Given the description of an element on the screen output the (x, y) to click on. 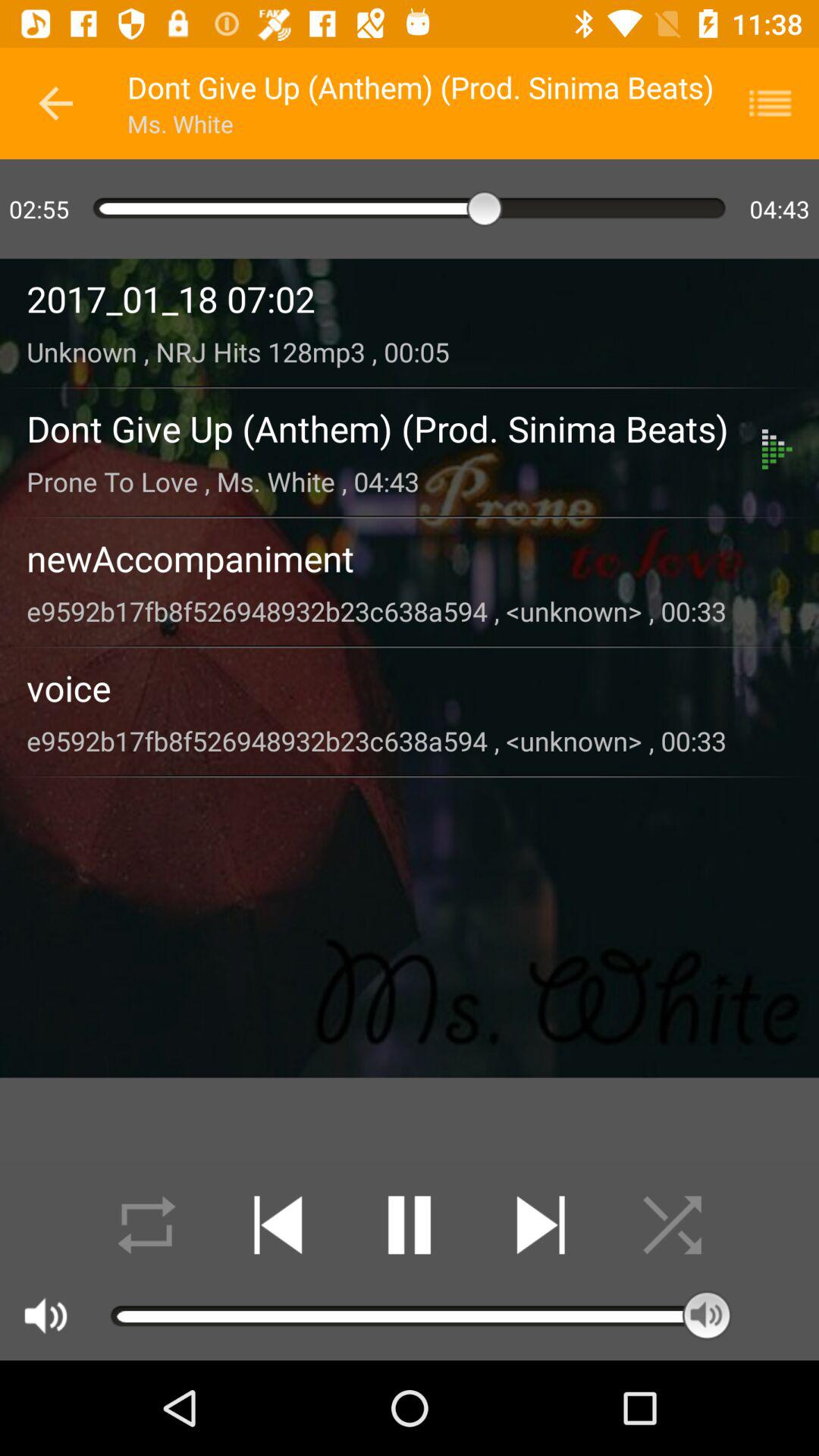
rewind (277, 1224)
